Given the description of an element on the screen output the (x, y) to click on. 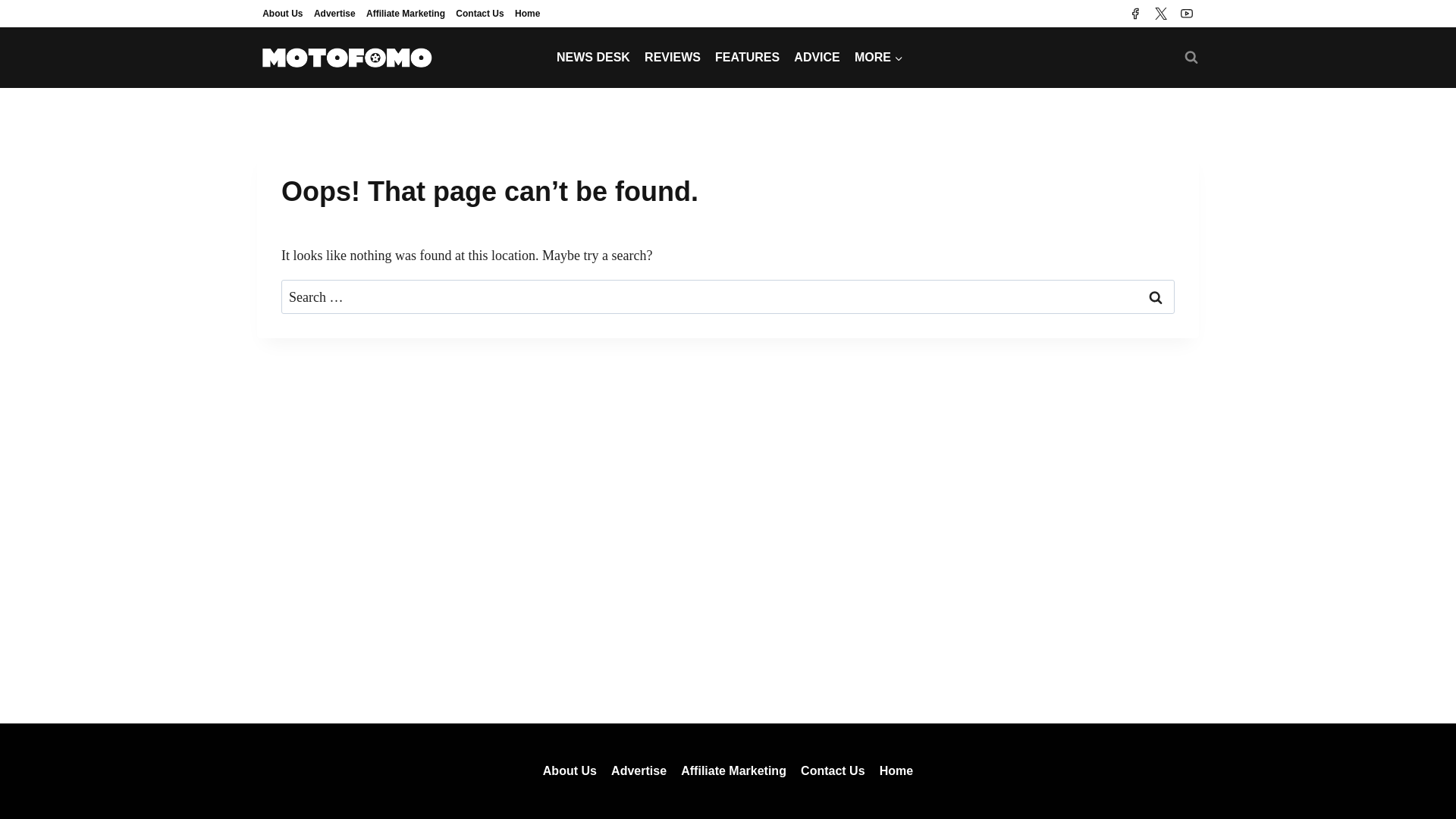
Advertise (334, 13)
Search (1155, 296)
Advertise (639, 771)
Home (896, 771)
Contact Us (479, 13)
Contact Us (832, 771)
Search (1155, 296)
MORE (878, 57)
Home (527, 13)
Affiliate Marketing (405, 13)
NEWS DESK (592, 57)
About Us (282, 13)
About Us (569, 771)
FEATURES (747, 57)
ADVICE (817, 57)
